Given the description of an element on the screen output the (x, y) to click on. 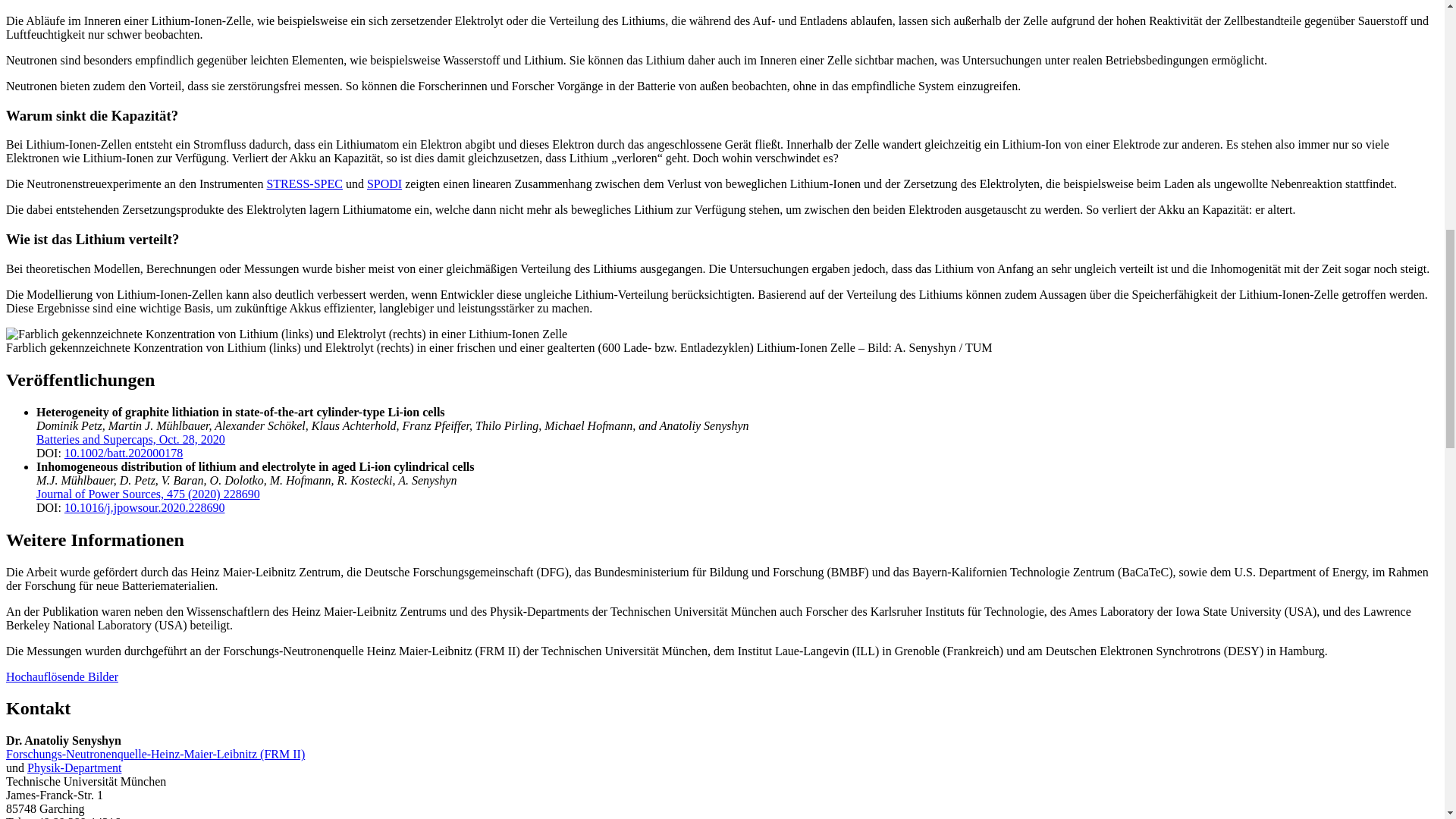
SPODI (383, 183)
STRESS-SPEC (304, 183)
Batteries and Supercaps, Oct. 28, 2020 (130, 439)
Physik-Department (73, 767)
